Given the description of an element on the screen output the (x, y) to click on. 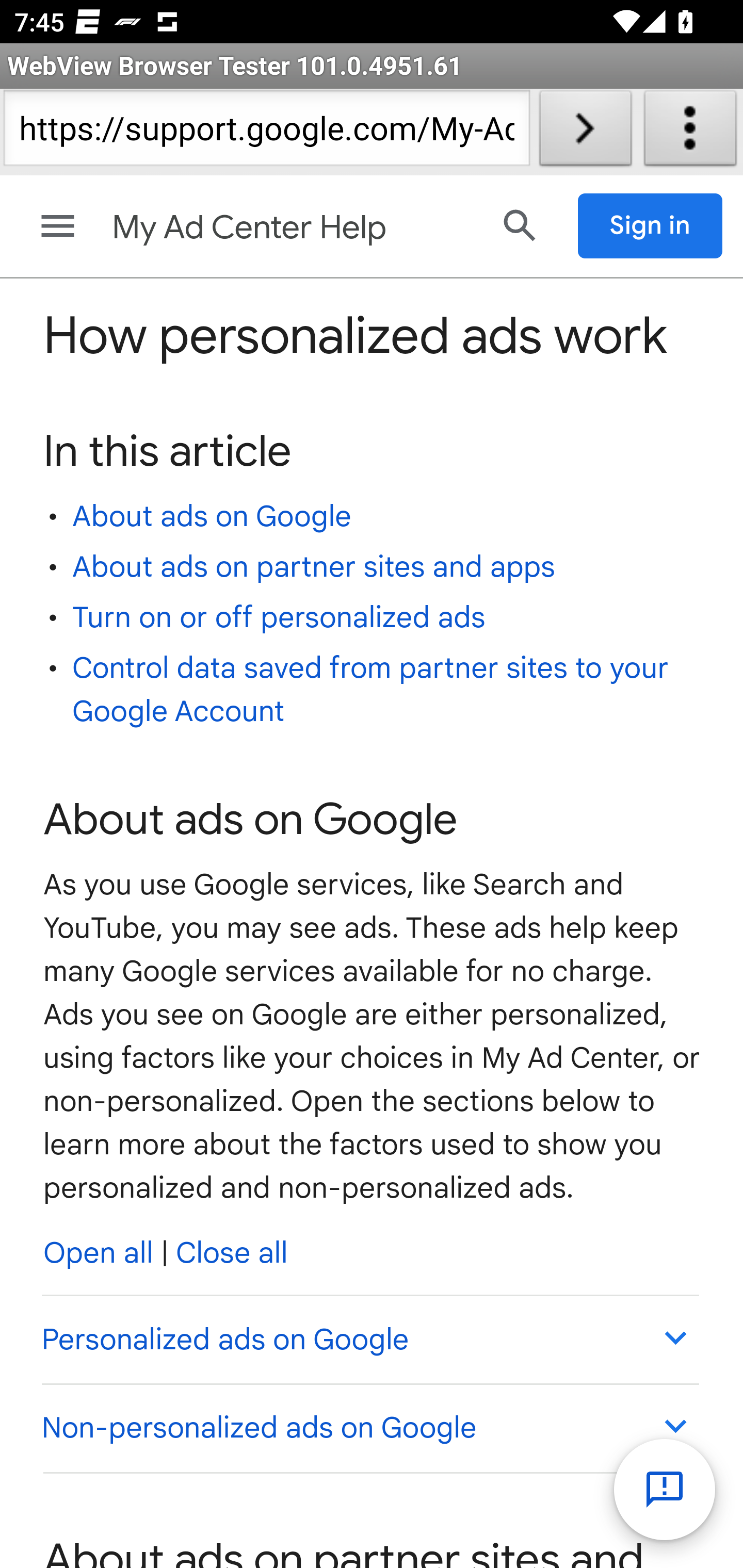
Load URL (585, 132)
About WebView (690, 132)
Main menu (58, 226)
My Ad Center Help (292, 227)
Search Help Center (519, 225)
Sign in (650, 226)
About ads on Google (212, 516)
About ads on partner sites and apps (314, 566)
Turn on or off personalized ads (278, 617)
Open all (99, 1253)
Close all (231, 1253)
Personalized ads on Google (369, 1339)
Non-personalized ads on Google (369, 1426)
